Given the description of an element on the screen output the (x, y) to click on. 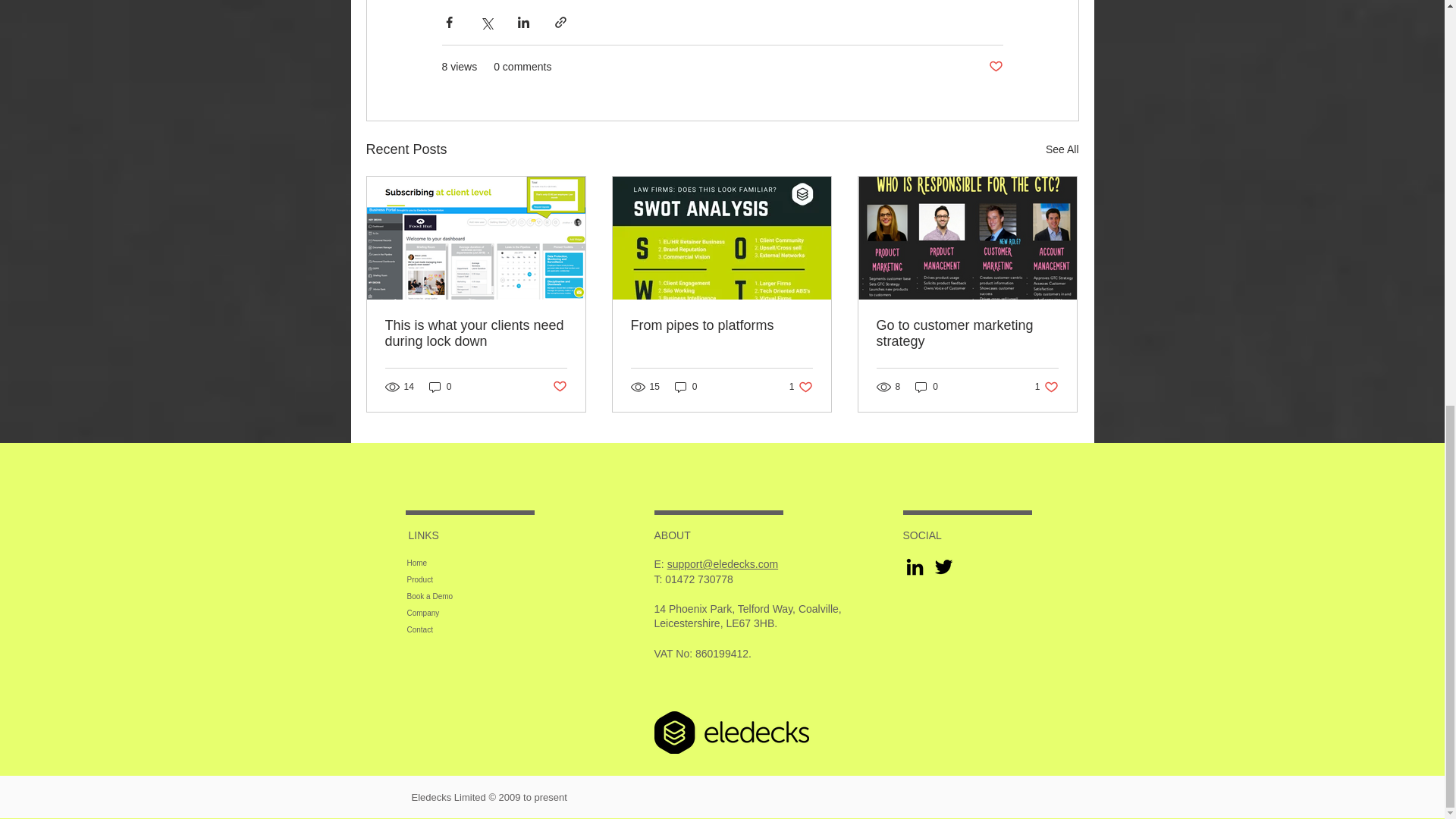
Product (451, 579)
From pipes to platforms (721, 325)
Contact (451, 629)
Go to customer marketing strategy (967, 333)
0 (926, 386)
0 (685, 386)
Post not marked as liked (995, 66)
0 (440, 386)
This is what your clients need during lock down (476, 333)
Company (451, 613)
